Given the description of an element on the screen output the (x, y) to click on. 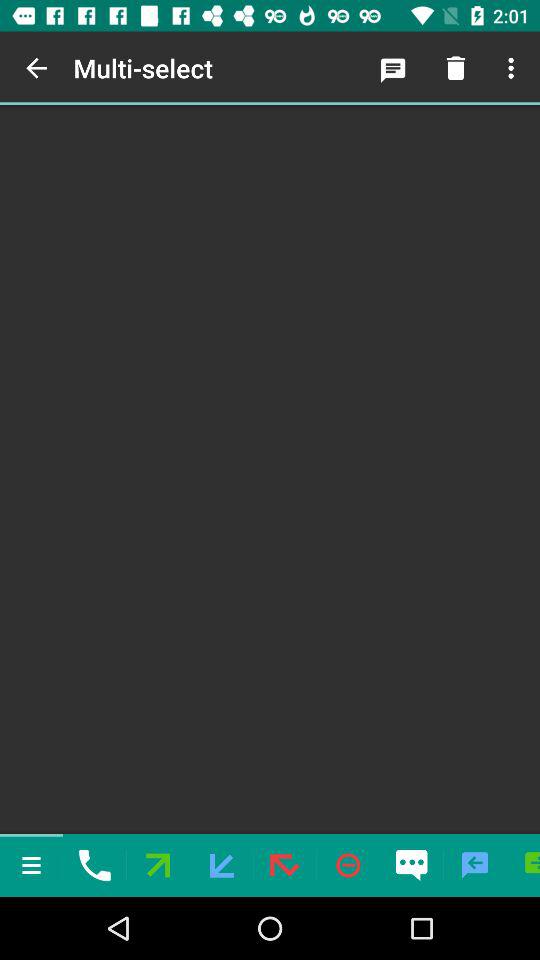
choose the icon next to the multi-select icon (392, 67)
